Given the description of an element on the screen output the (x, y) to click on. 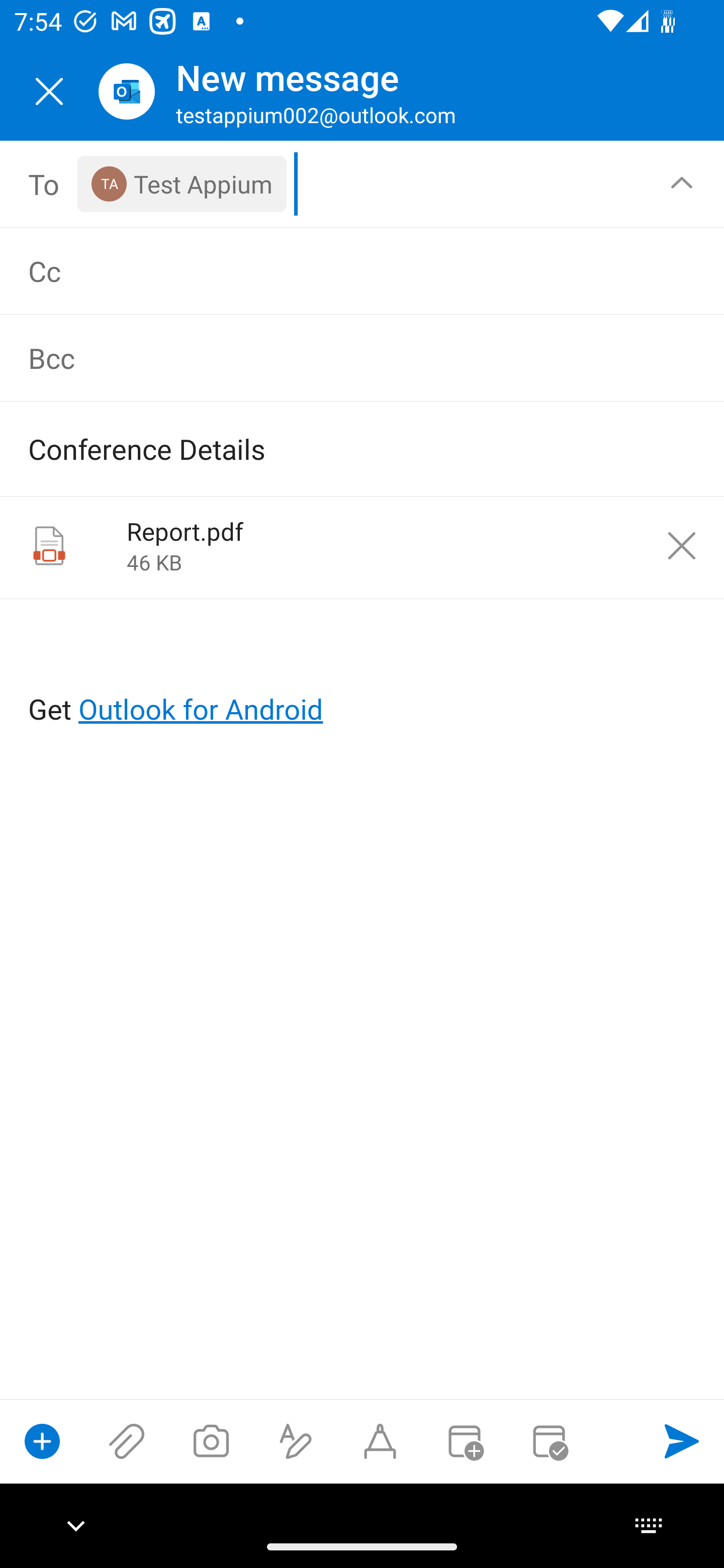
Close (49, 91)
Conference Details (333, 448)
Report.pdf 46 KB Remove attachment Report.pdf (362, 547)
Remove attachment Report.pdf (681, 545)


Get Outlook for Android (363, 676)
Show compose options (42, 1440)
Attach files (126, 1440)
Take a photo (210, 1440)
Show formatting options (295, 1440)
Start Ink compose (380, 1440)
Convert to event (464, 1440)
Send availability (548, 1440)
Send (681, 1440)
